Given the description of an element on the screen output the (x, y) to click on. 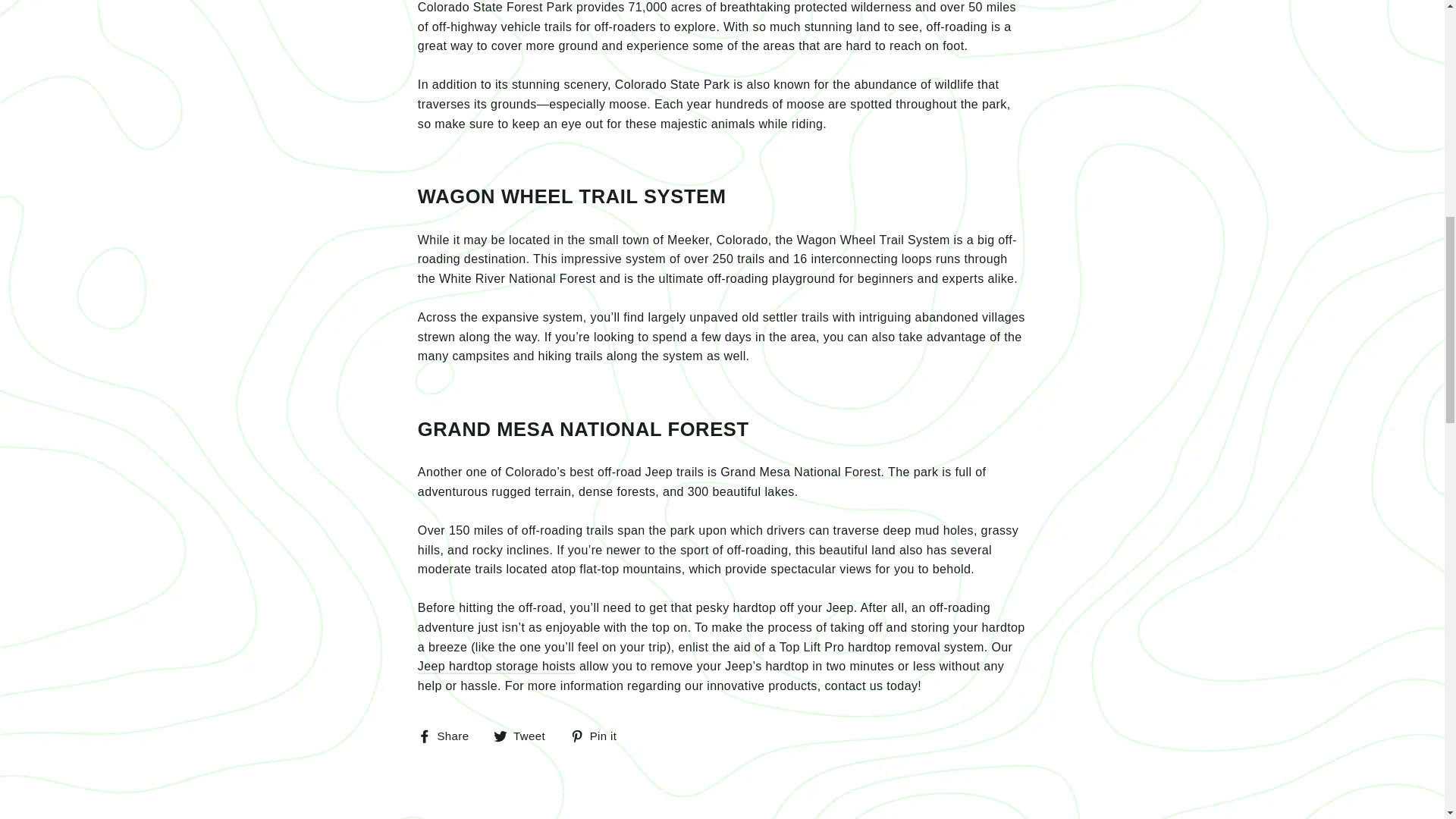
Tweet on Twitter (524, 735)
Pin on Pinterest (598, 735)
Share on Facebook (448, 735)
